Given the description of an element on the screen output the (x, y) to click on. 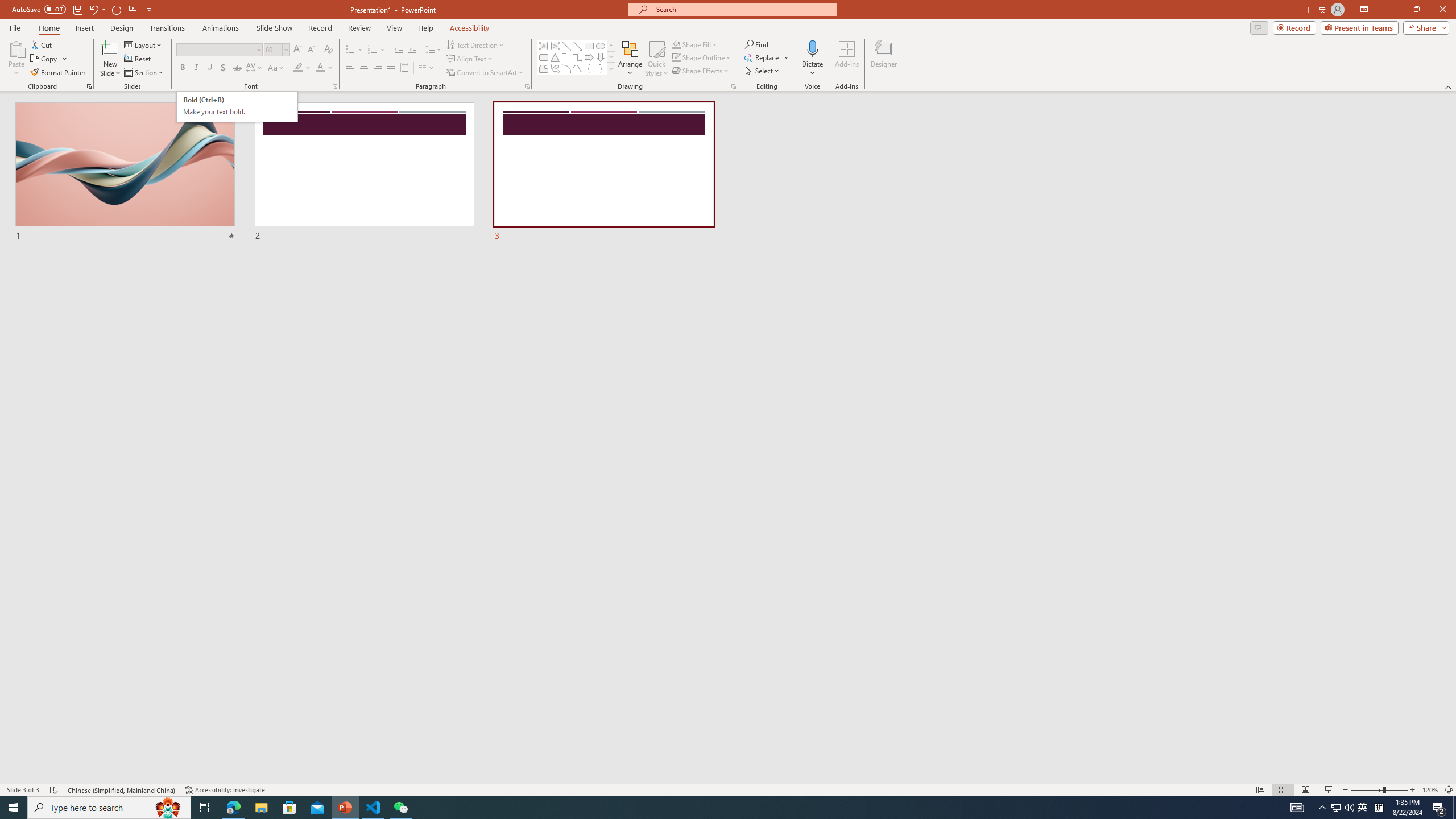
Align Text (470, 58)
Line Arrow (577, 45)
Increase Font Size (297, 49)
Right Brace (600, 68)
Text Highlight Color (302, 67)
Bold (182, 67)
New Slide (110, 58)
Bullets (349, 49)
Shape Outline (701, 56)
Slide Show (273, 28)
Line (566, 45)
Justify (390, 67)
Font Size (276, 49)
Undo (96, 9)
